Given the description of an element on the screen output the (x, y) to click on. 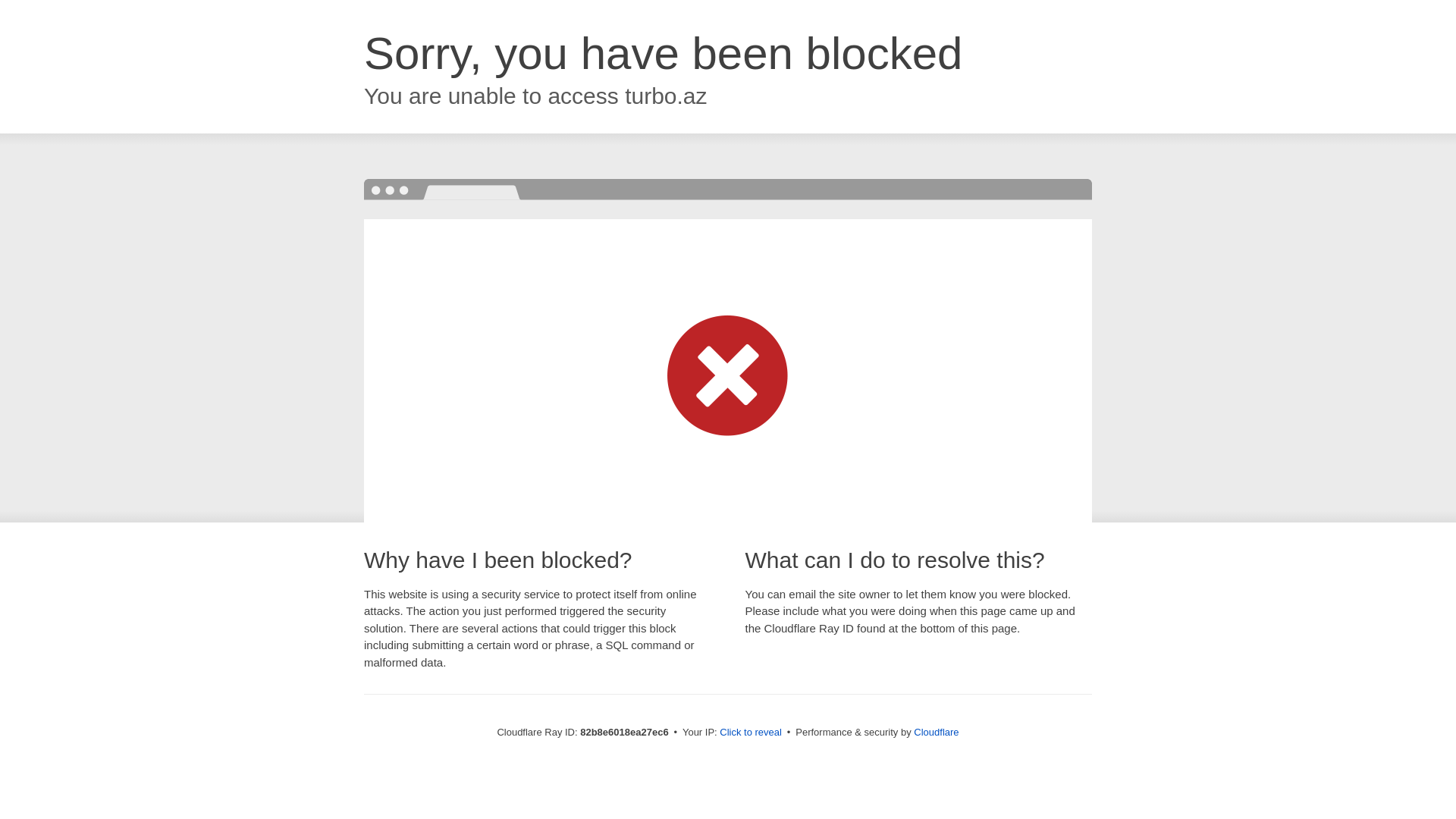
Click to reveal Element type: text (750, 732)
Cloudflare Element type: text (935, 731)
